Given the description of an element on the screen output the (x, y) to click on. 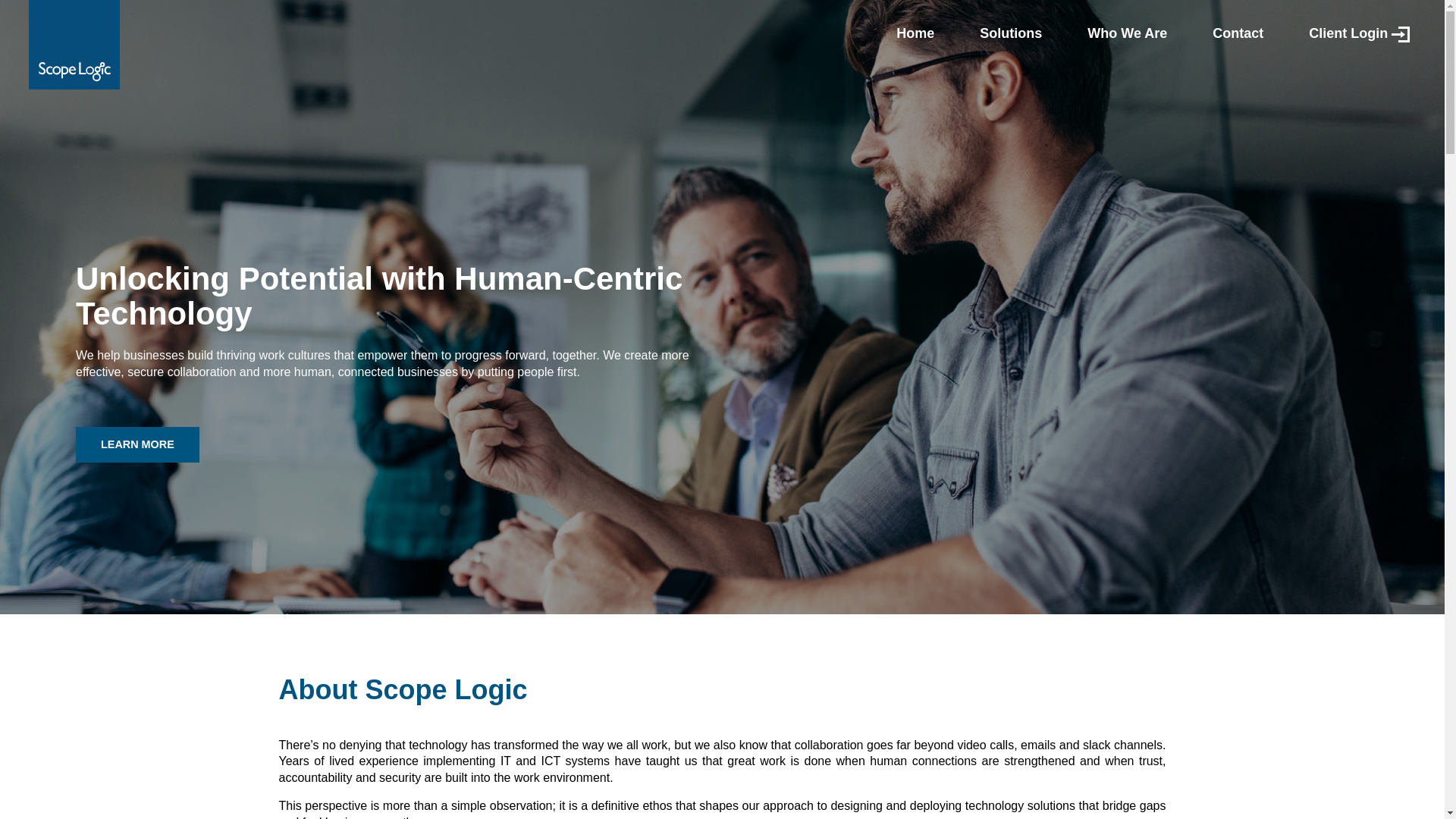
Solutions (1010, 33)
LEARN MORE (137, 444)
Home (915, 33)
Contact (1237, 33)
Who We Are (1127, 33)
Client Login (1358, 33)
